Given the description of an element on the screen output the (x, y) to click on. 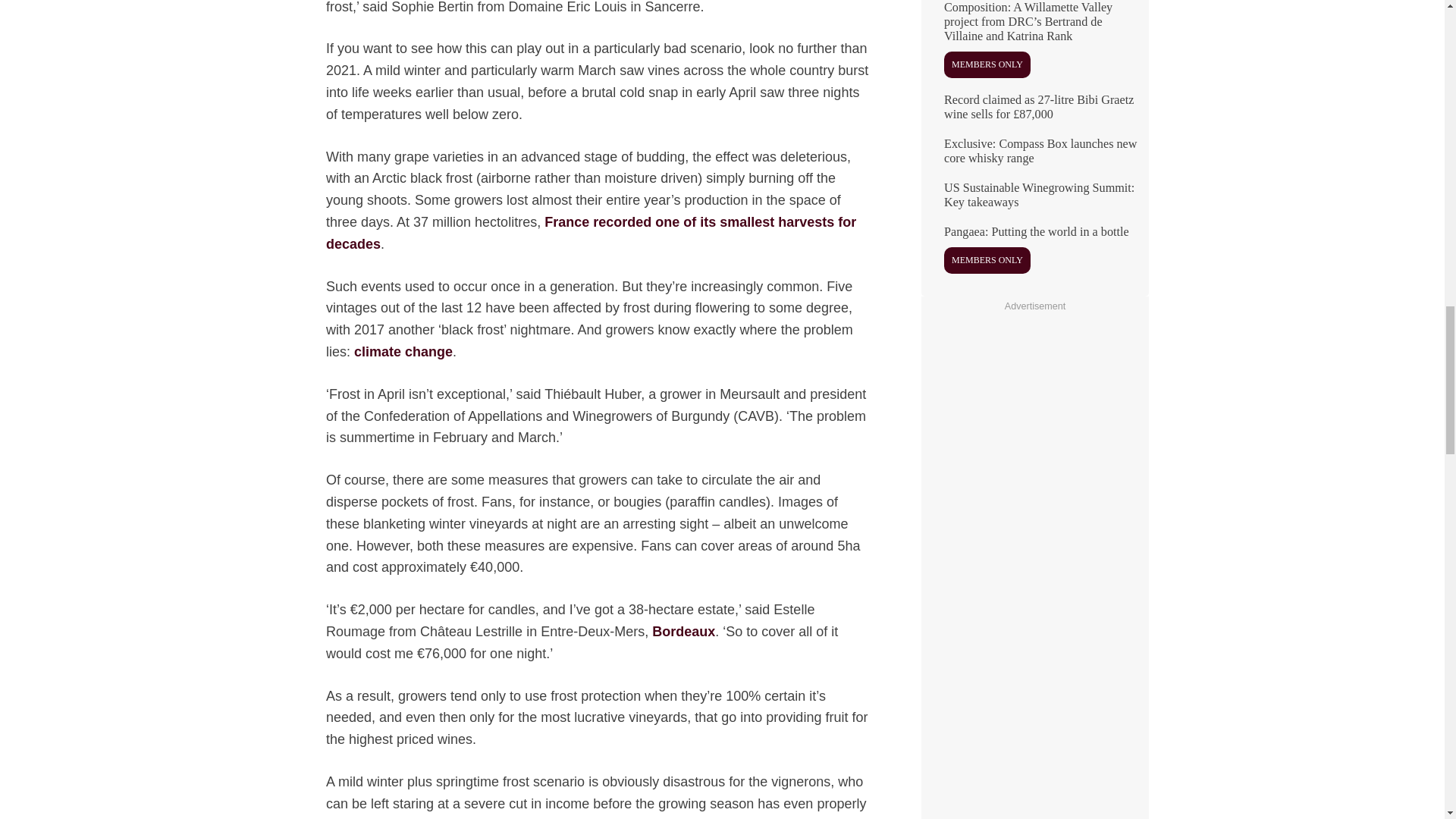
Pangaea: Putting the world in a bottle (1035, 255)
US Sustainable Winegrowing Summit: Key takeaways (1035, 200)
Exclusive: Compass Box launches new core whisky range (1035, 157)
